Given the description of an element on the screen output the (x, y) to click on. 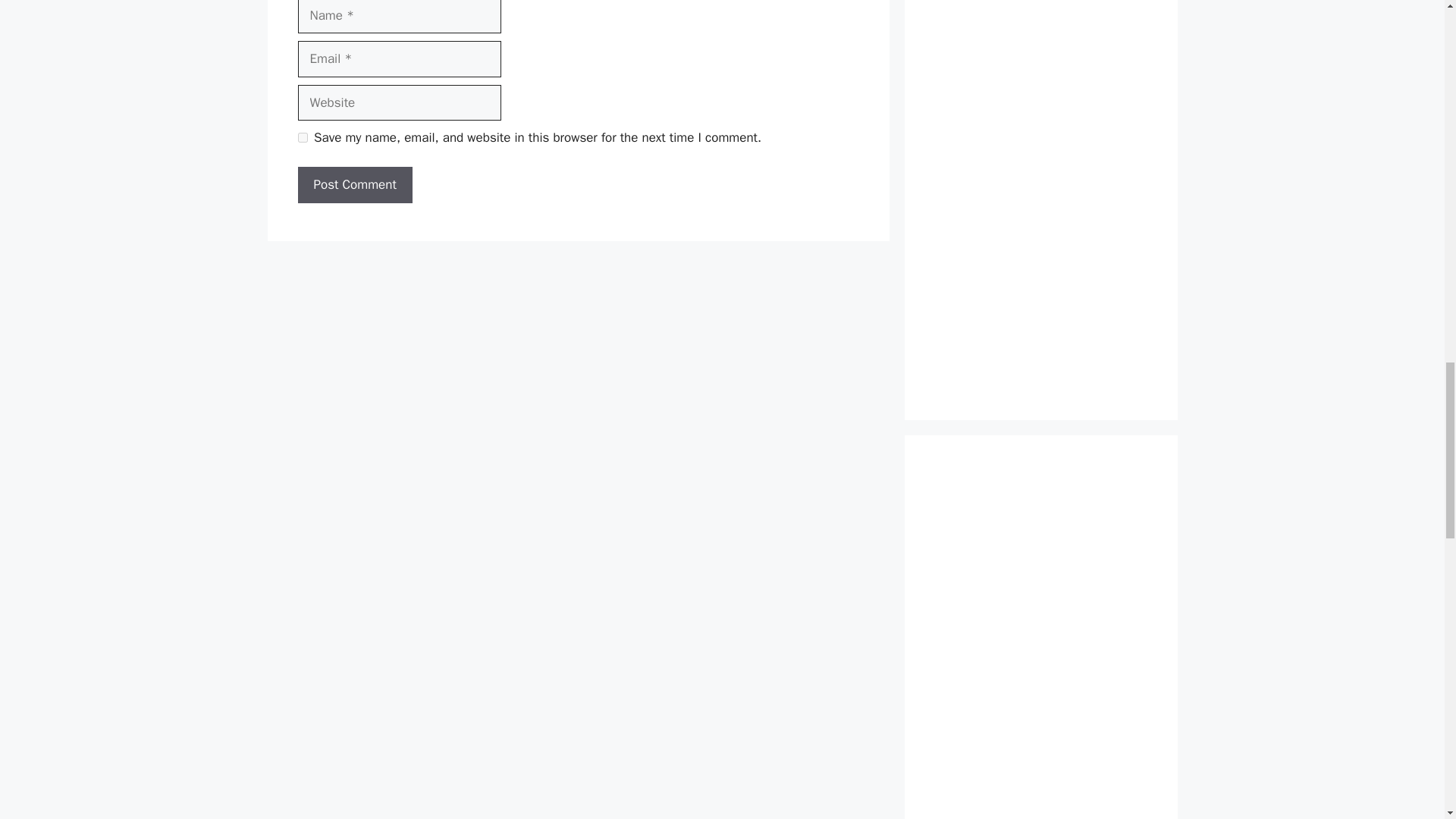
Post Comment (354, 185)
yes (302, 137)
Post Comment (354, 185)
